Given the description of an element on the screen output the (x, y) to click on. 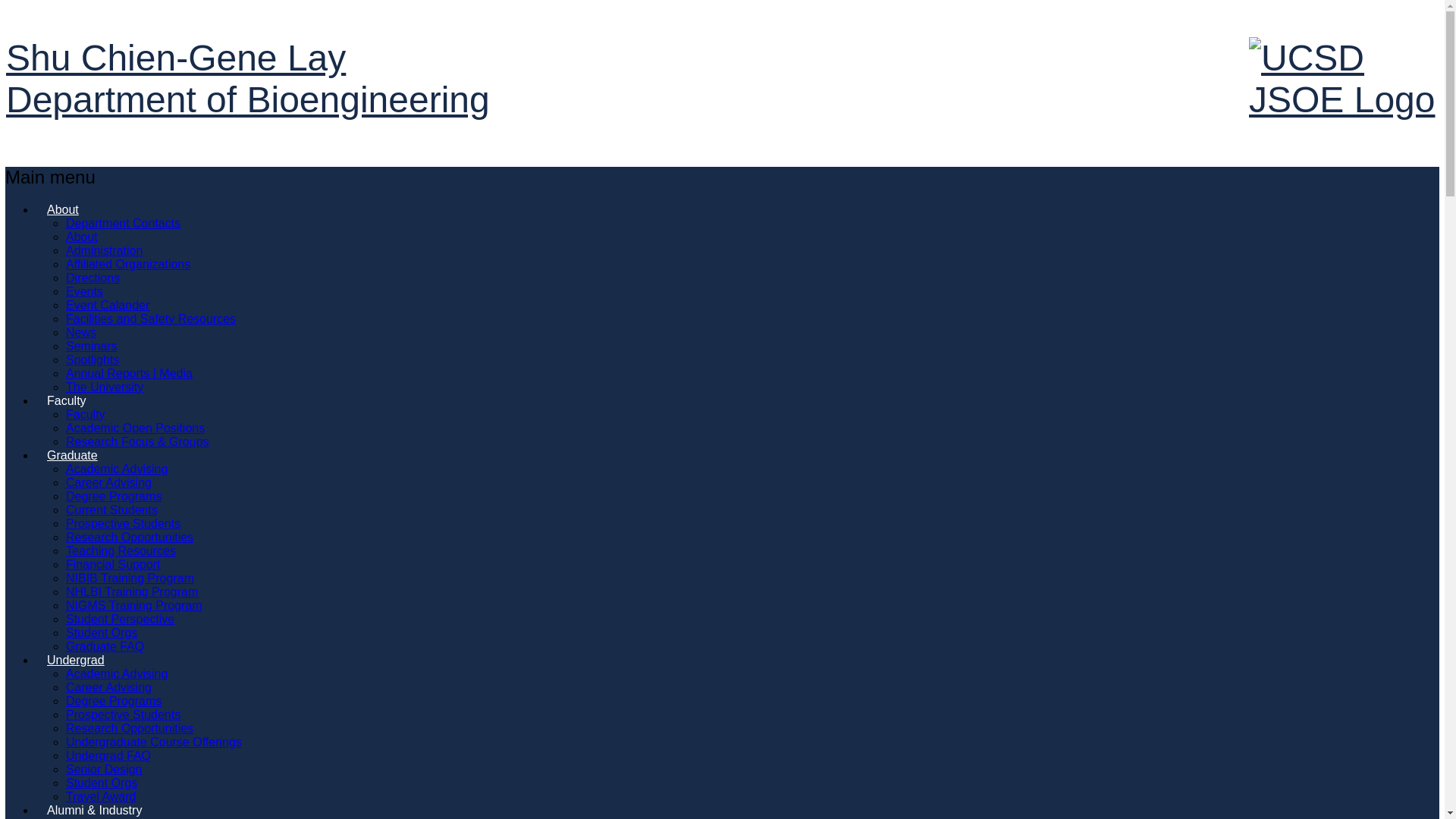
Events (84, 291)
News (80, 332)
Department Contacts (122, 223)
Degree Programs (113, 700)
Event Calander (107, 305)
Career Advising (108, 686)
Administration (103, 250)
NIBIB Training Program (129, 577)
Graduate FAQ (104, 645)
Career Advising (108, 481)
